Given the description of an element on the screen output the (x, y) to click on. 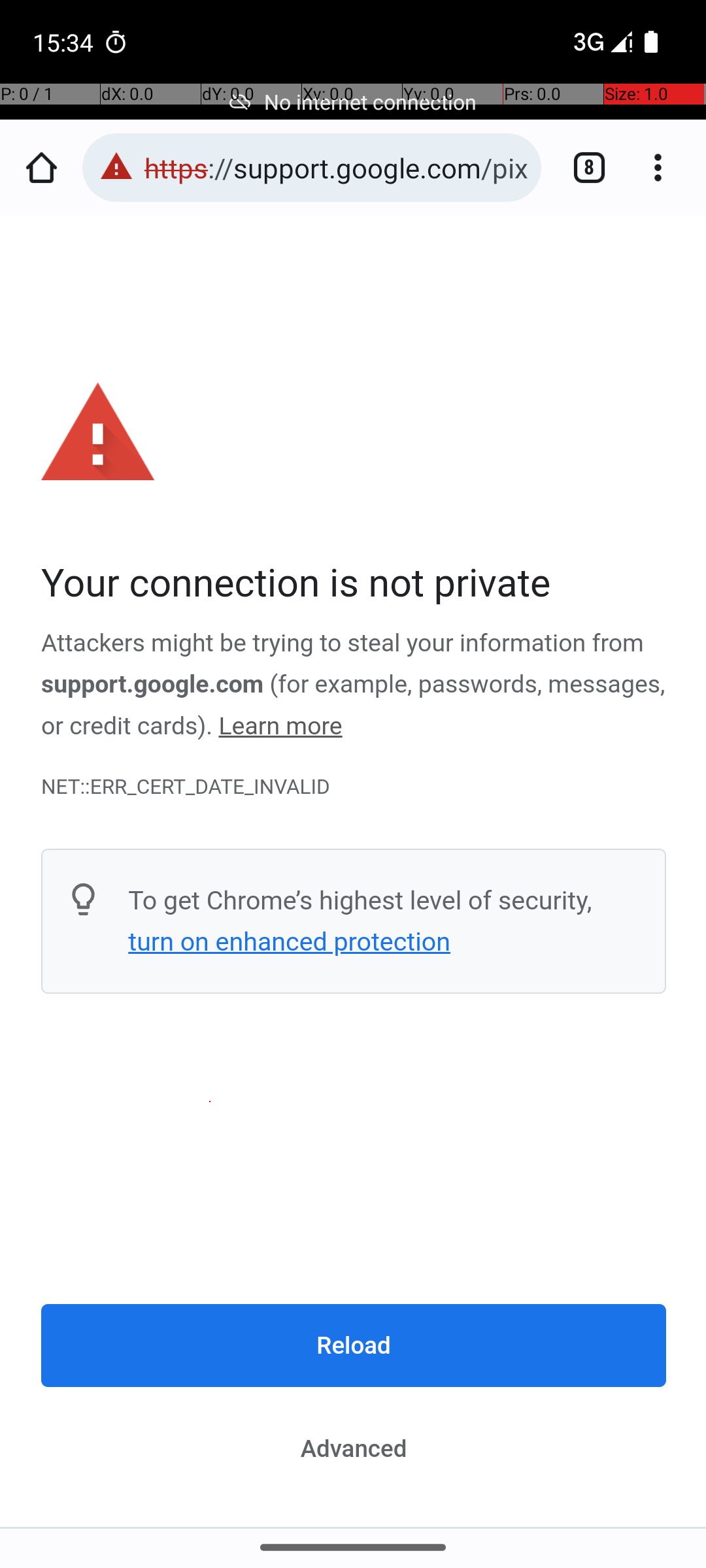
https://support.google.com/pixelphone/?p=battery_saver_settings Element type: android.widget.EditText (335, 167)
support.google.com Element type: android.widget.TextView (152, 684)
